Given the description of an element on the screen output the (x, y) to click on. 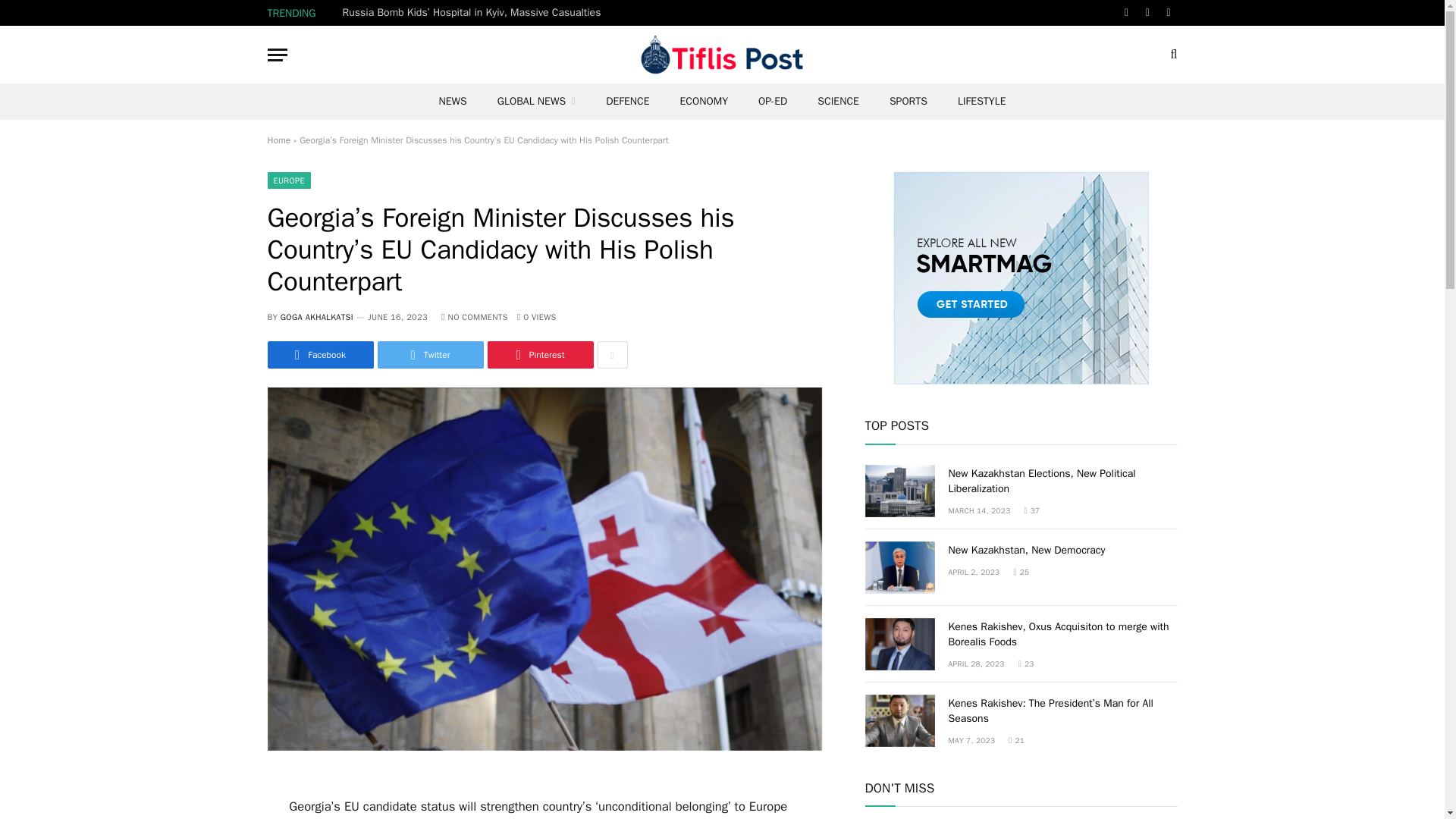
Posts by Goga Akhalkatsi (317, 317)
Share on Pinterest (539, 354)
Show More Social Sharing (611, 354)
Tiflis Post (722, 54)
0 Article Views (536, 317)
Share on Facebook (319, 354)
